Given the description of an element on the screen output the (x, y) to click on. 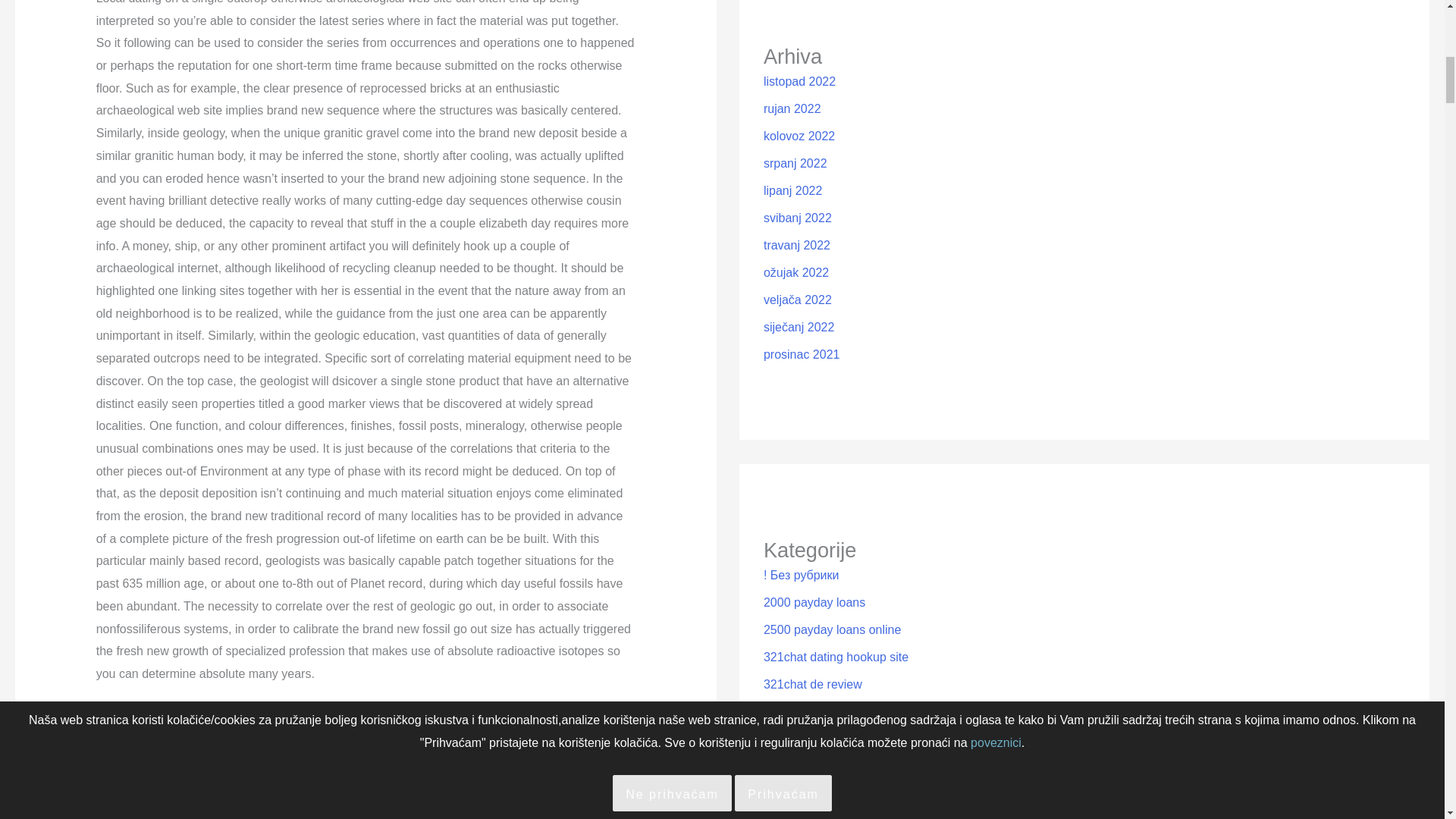
srpanj 2022 (794, 163)
2000 payday loans (813, 602)
travanj 2022 (795, 245)
rujan 2022 (791, 108)
kolovoz 2022 (798, 135)
prosinac 2021 (801, 354)
svibanj 2022 (796, 217)
listopad 2022 (798, 81)
lipanj 2022 (792, 190)
